Given the description of an element on the screen output the (x, y) to click on. 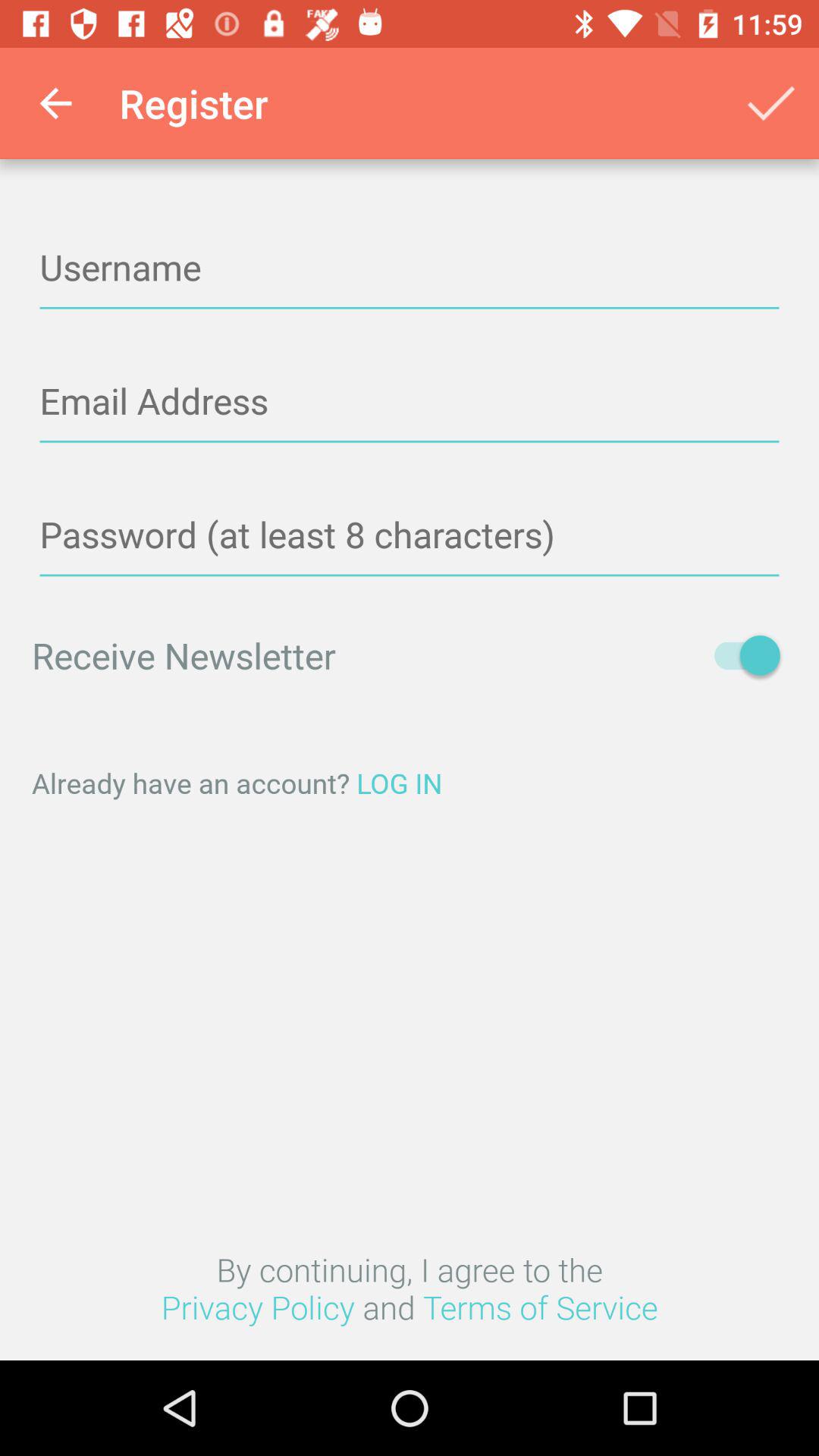
toggle option to receive newsletter (739, 655)
